Given the description of an element on the screen output the (x, y) to click on. 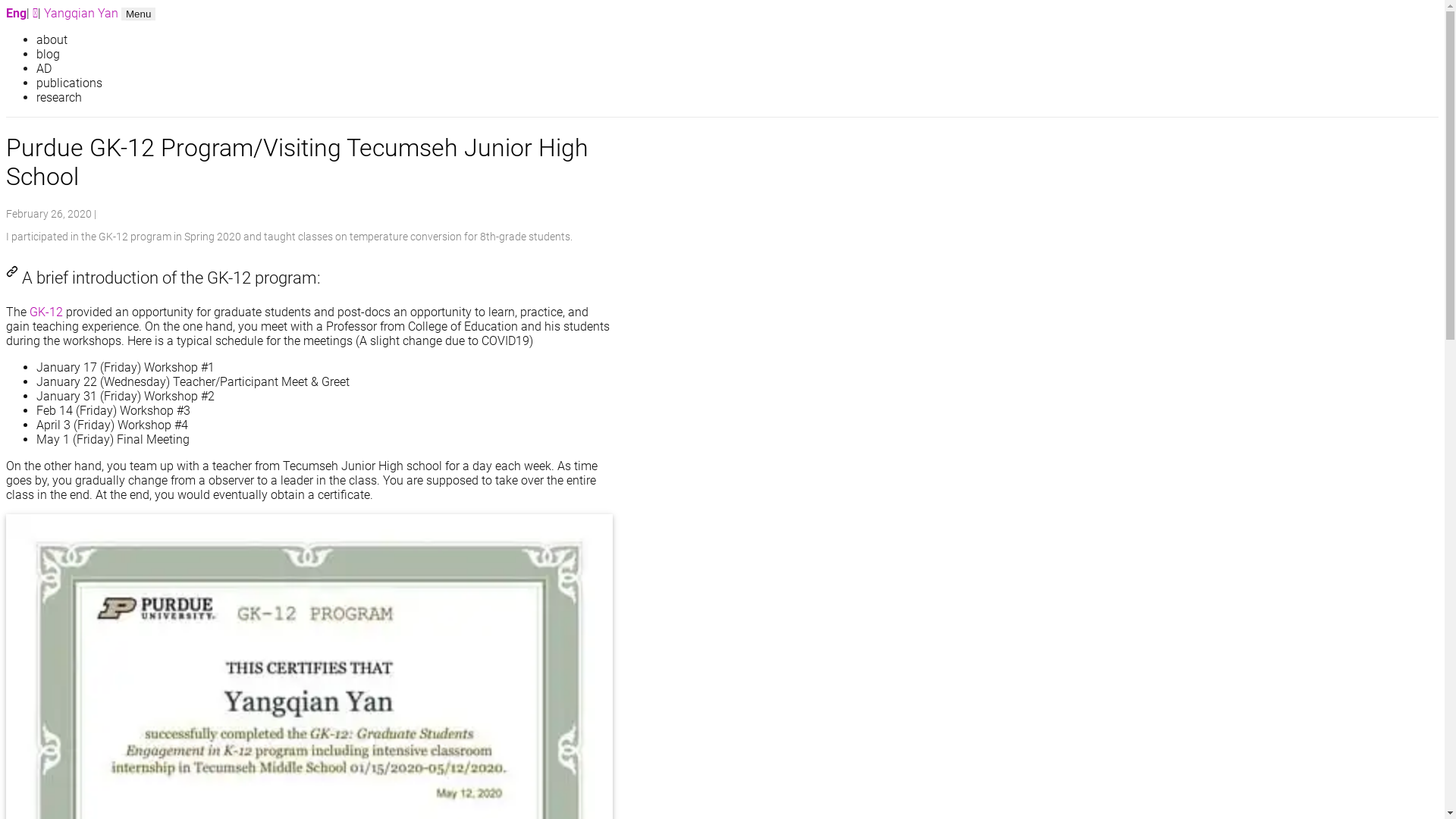
blog Element type: text (324, 54)
Toggle navigation
Menu Element type: text (138, 13)
about Element type: text (324, 39)
publications Element type: text (324, 82)
research Element type: text (324, 97)
Yangqian Yan Element type: text (82, 13)
GK-12 Element type: text (45, 311)
AD Element type: text (324, 68)
Eng Element type: text (16, 13)
